Given the description of an element on the screen output the (x, y) to click on. 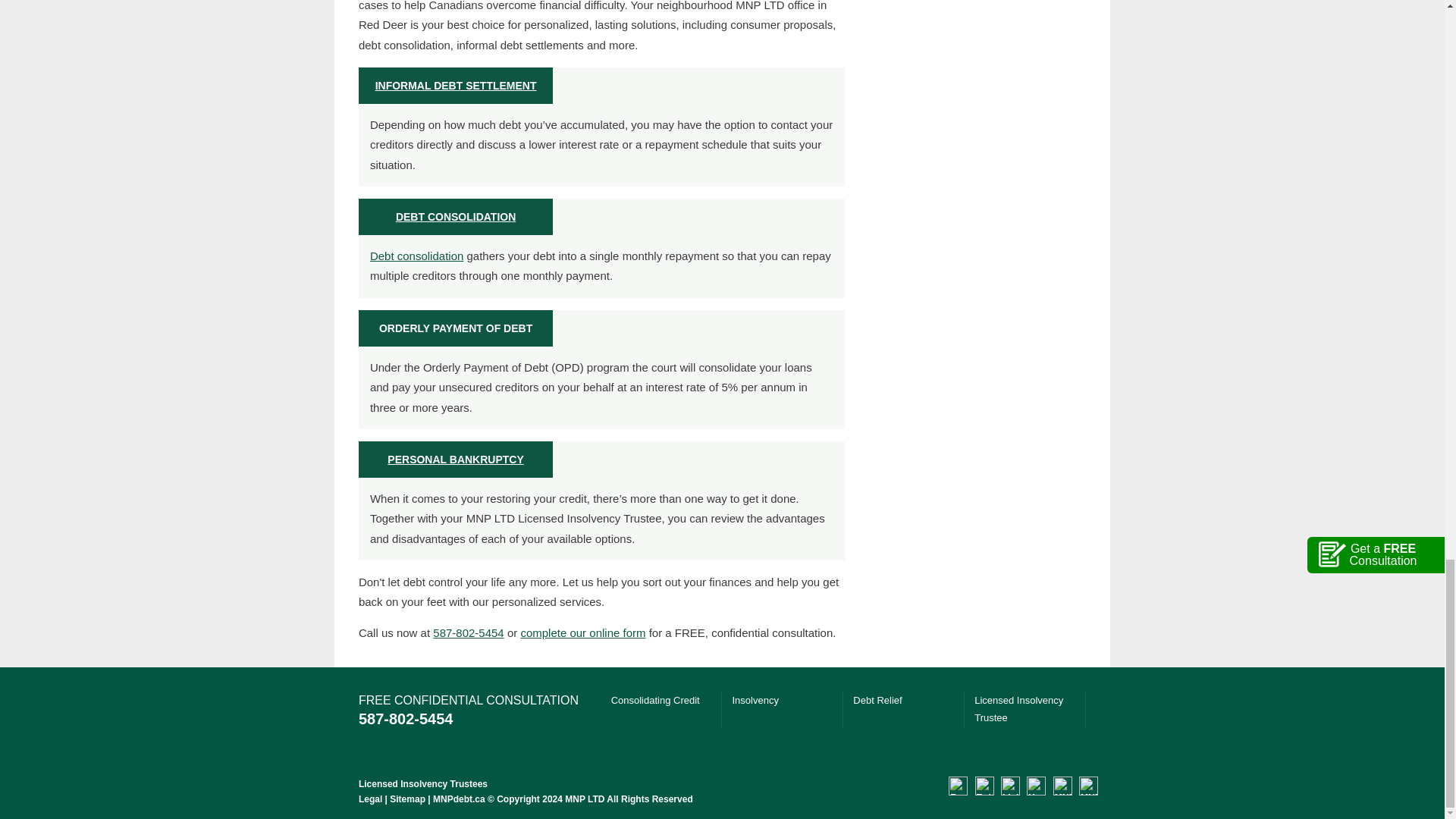
INFORMAL DEBT SETTLEMENT (456, 85)
587-802-5454 (467, 632)
PERSONAL BANKRUPTCY (454, 459)
ORDERLY PAYMENT OF DEBT (455, 328)
DEBT CONSOLIDATION (455, 216)
Debt consolidation (416, 255)
